Given the description of an element on the screen output the (x, y) to click on. 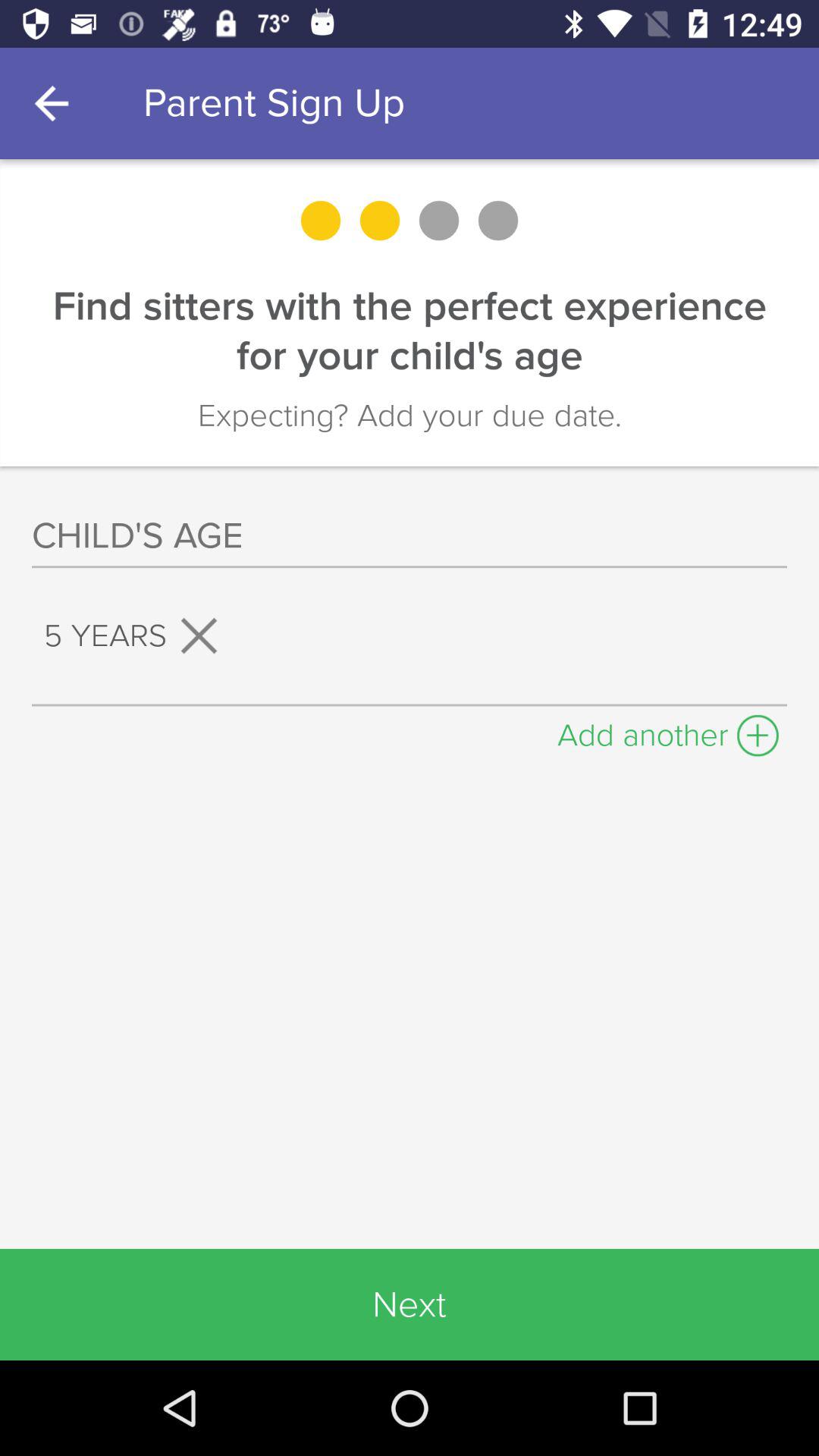
flip until the 5 years item (136, 635)
